Given the description of an element on the screen output the (x, y) to click on. 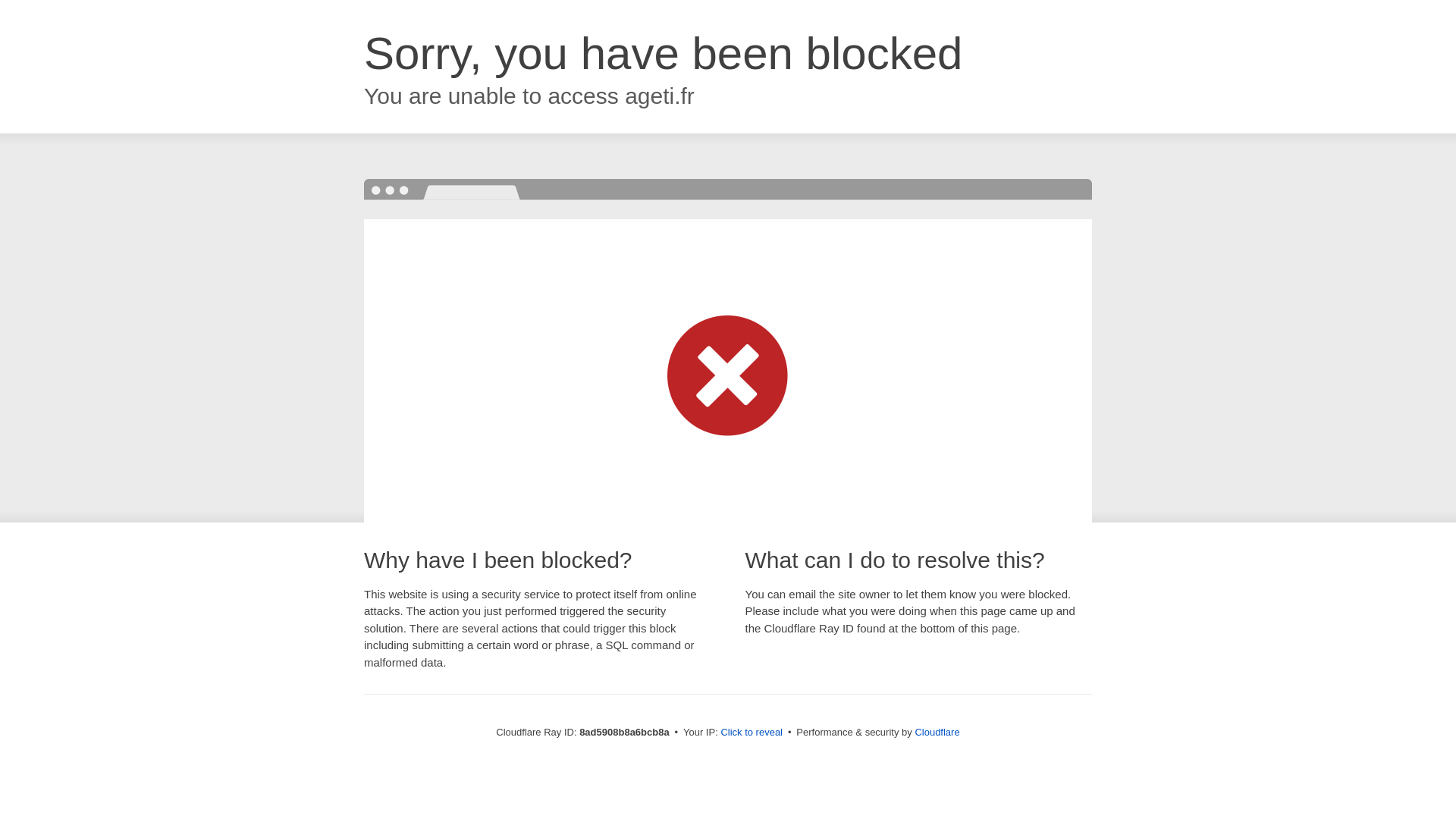
Cloudflare (936, 731)
Click to reveal (751, 732)
